Given the description of an element on the screen output the (x, y) to click on. 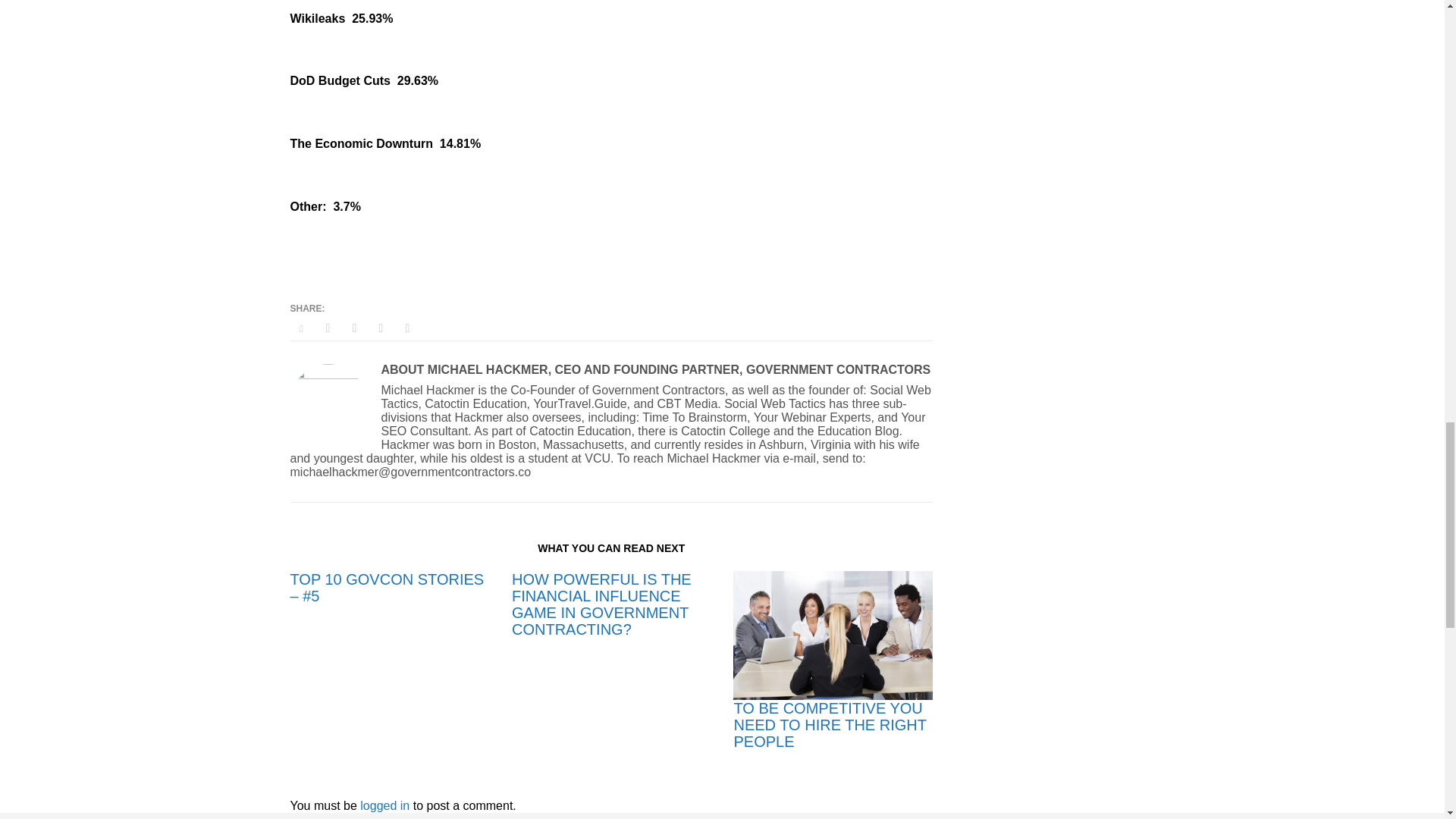
SHARE ON TWITTER (301, 328)
SHARE ON FACEBOOK (328, 327)
